Given the description of an element on the screen output the (x, y) to click on. 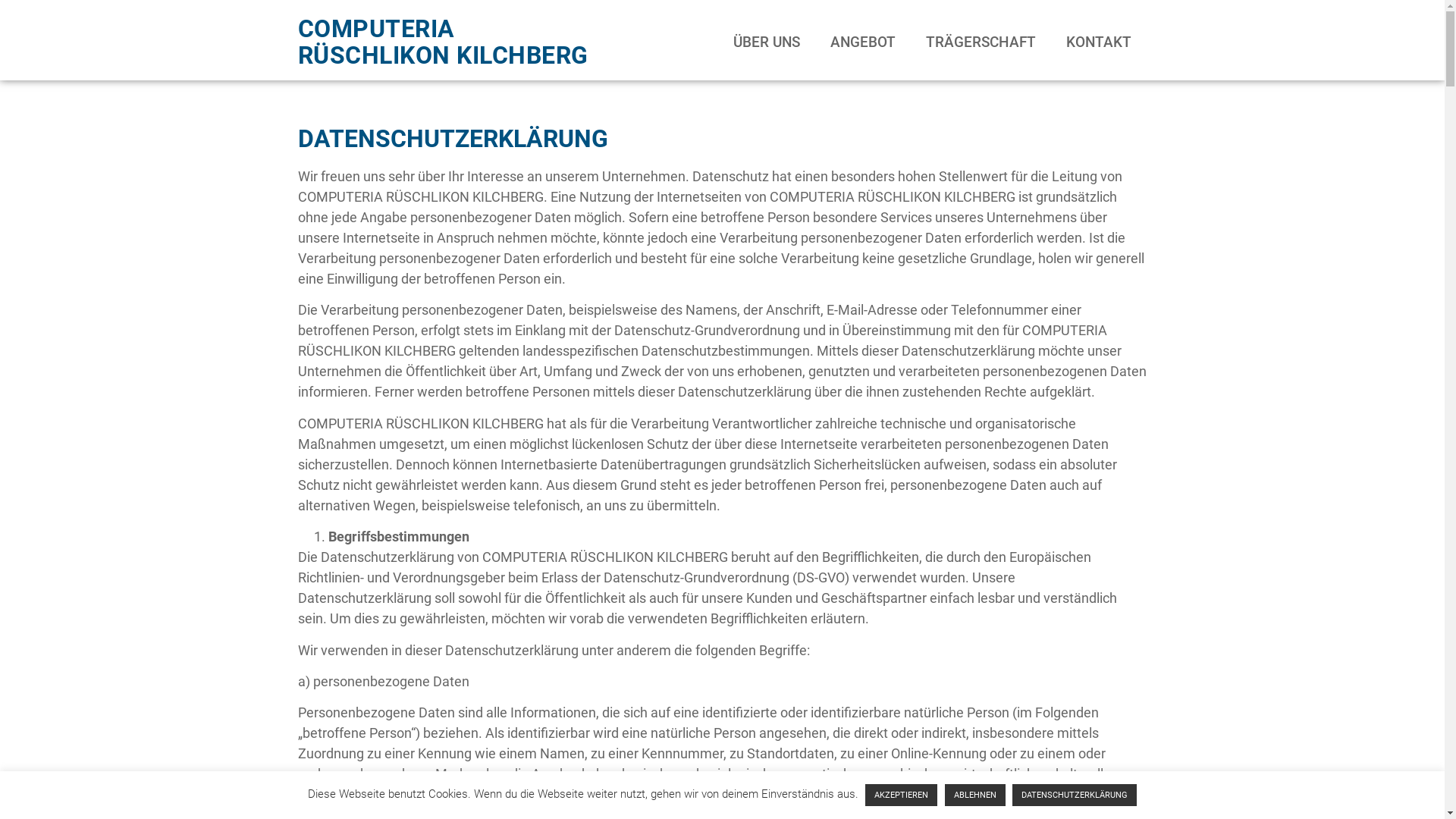
AKZEPTIEREN Element type: text (901, 795)
ANGEBOT Element type: text (862, 42)
ABLEHNEN Element type: text (974, 795)
KONTAKT Element type: text (1098, 42)
